Given the description of an element on the screen output the (x, y) to click on. 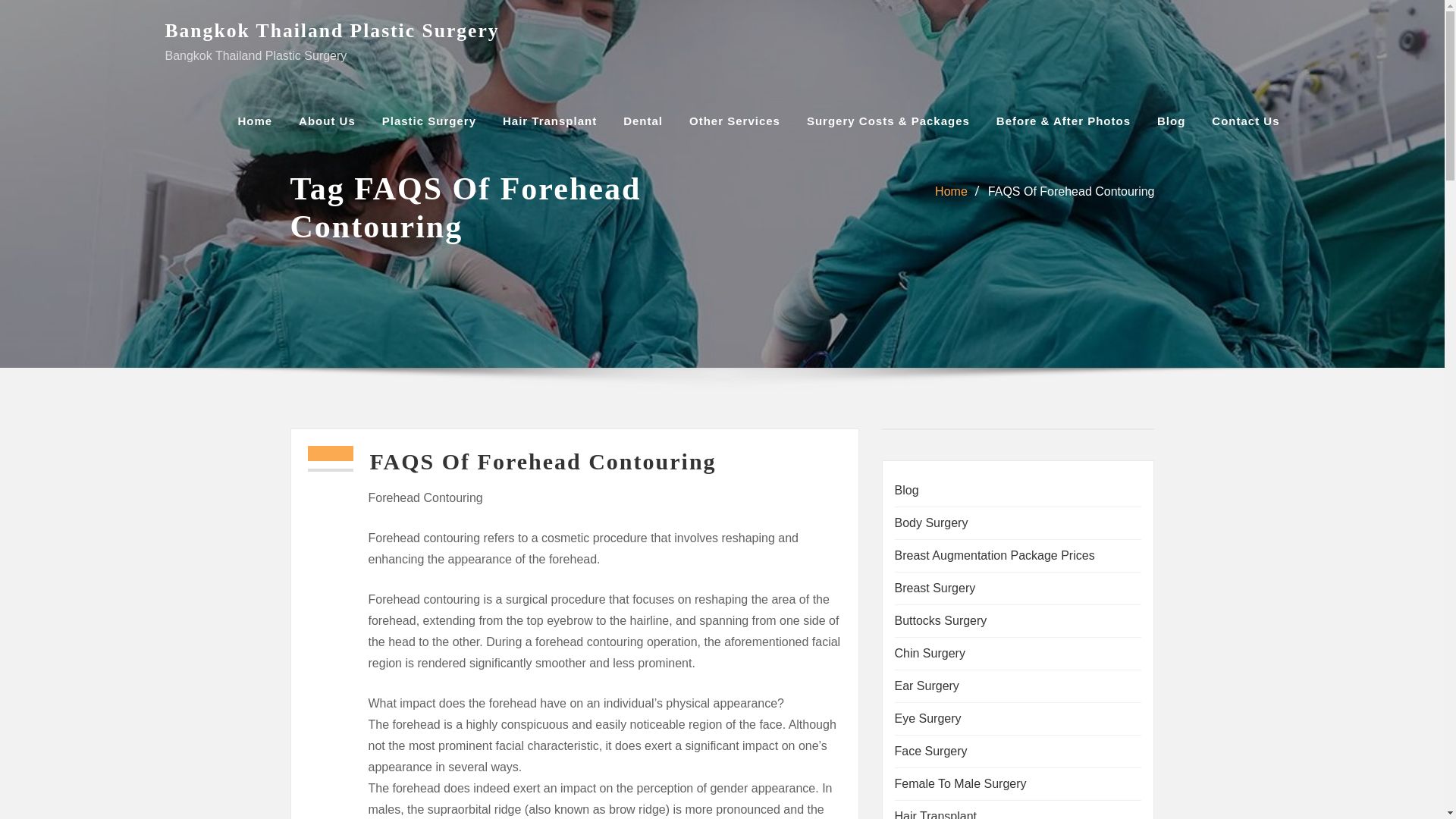
Plastic Surgery (428, 121)
About Us (326, 121)
Bangkok Thailand Plastic Surgery (332, 30)
Home (254, 121)
